Given the description of an element on the screen output the (x, y) to click on. 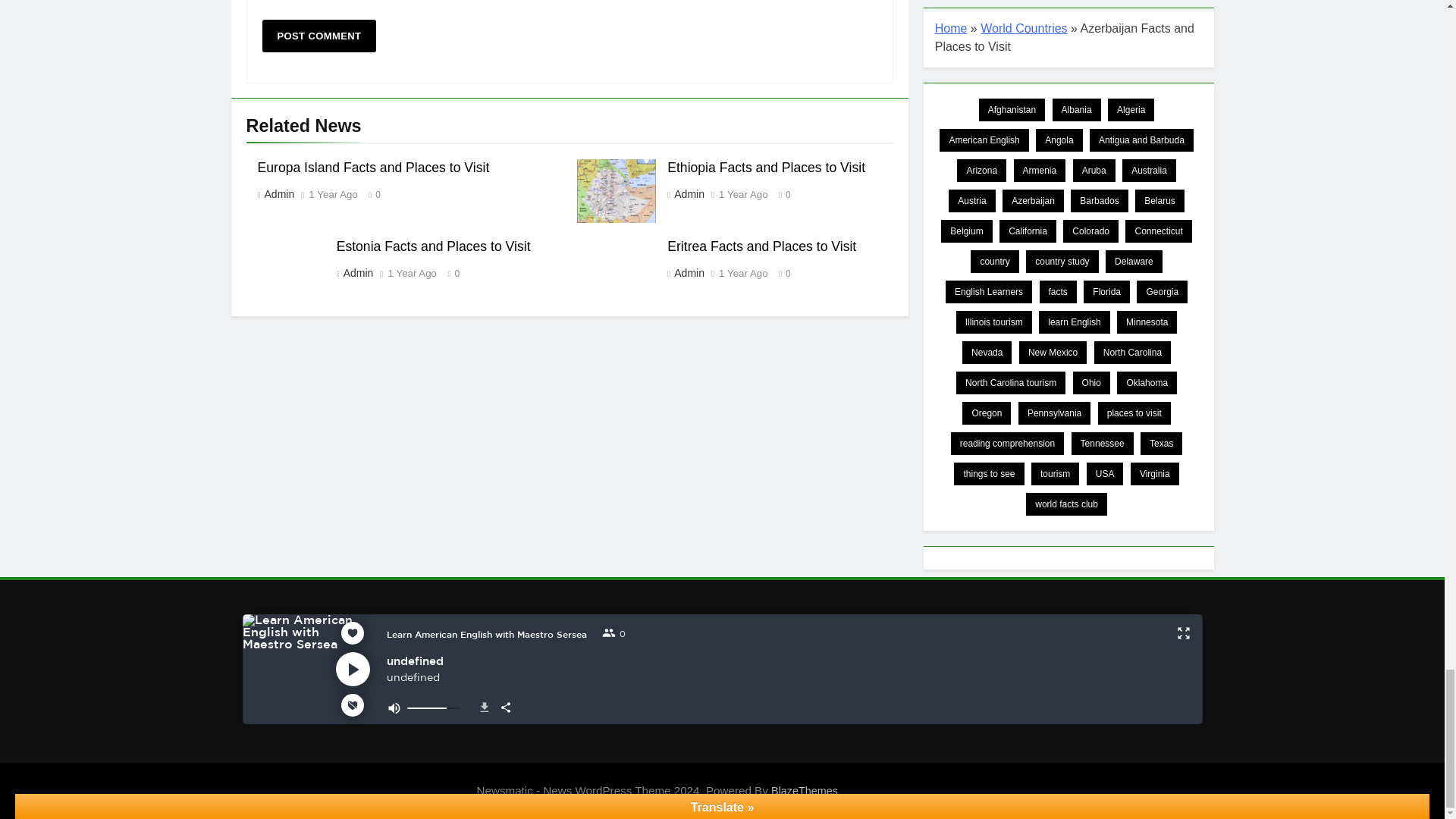
Post Comment (319, 35)
